Given the description of an element on the screen output the (x, y) to click on. 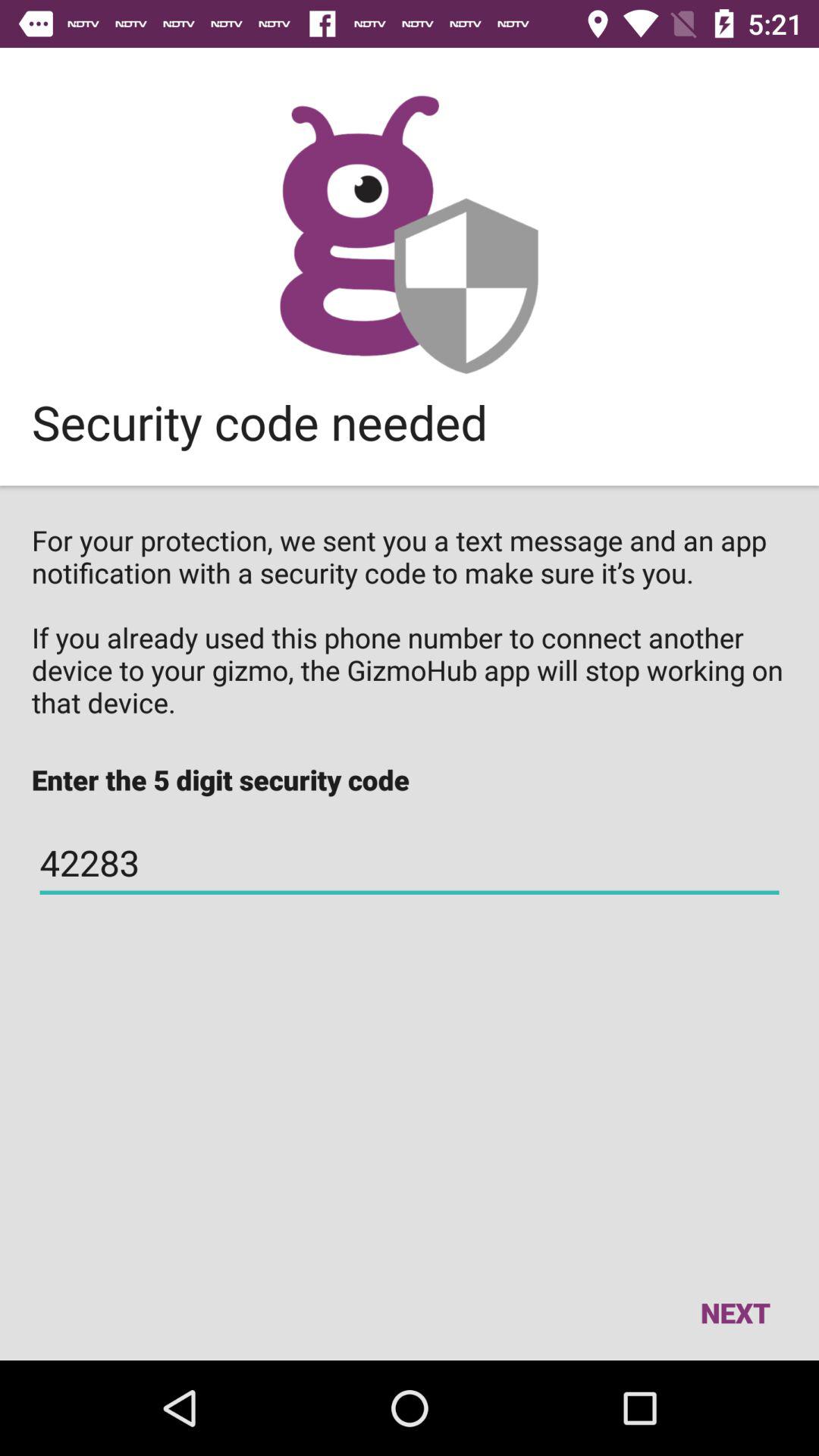
tap item below the enter the 5 (409, 863)
